Given the description of an element on the screen output the (x, y) to click on. 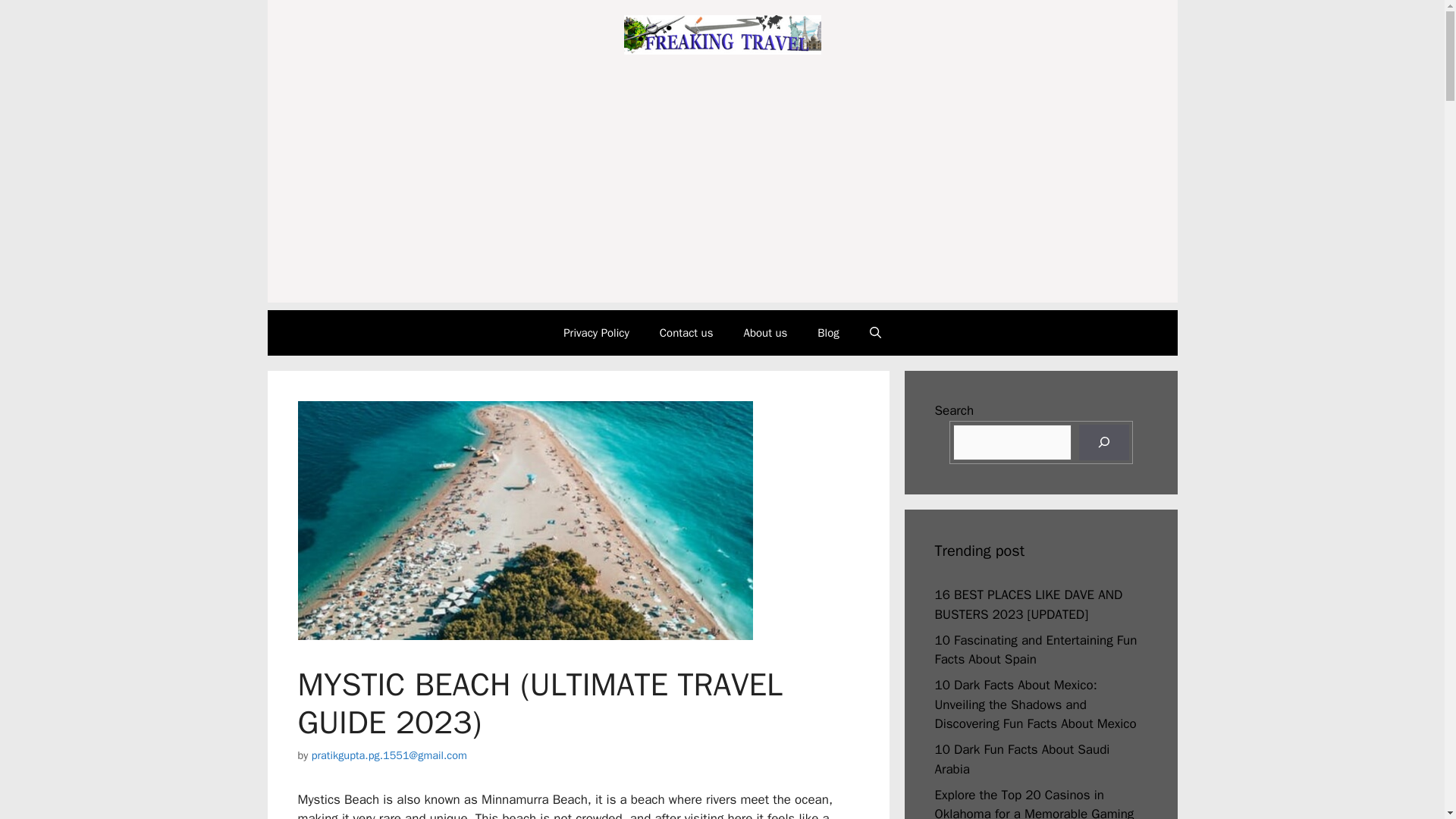
Privacy Policy (596, 332)
Contact us (687, 332)
About us (765, 332)
Blog (827, 332)
